Given the description of an element on the screen output the (x, y) to click on. 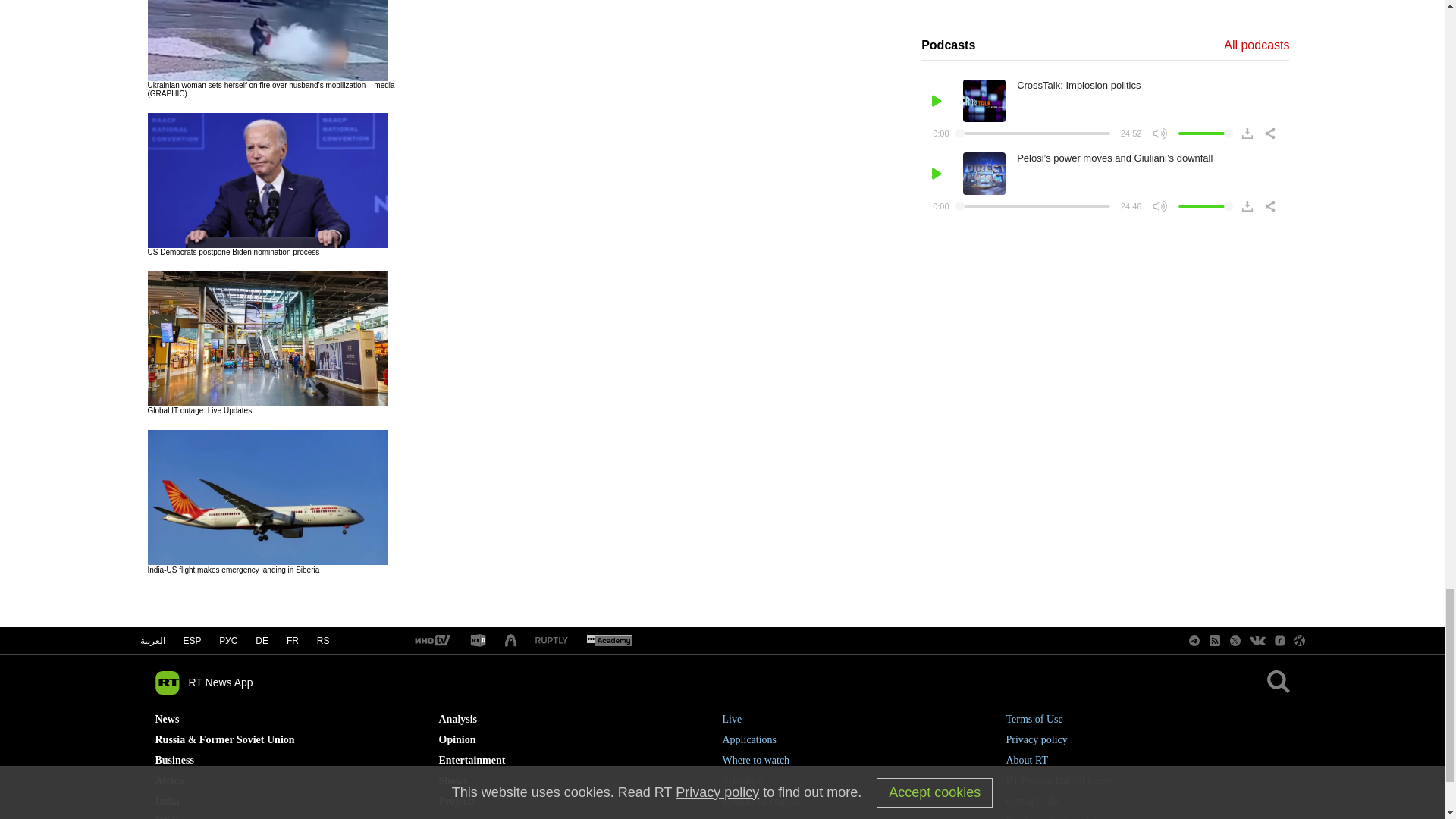
RT  (551, 641)
RT  (431, 640)
RT  (478, 640)
RT  (510, 640)
RT  (608, 640)
